Given the description of an element on the screen output the (x, y) to click on. 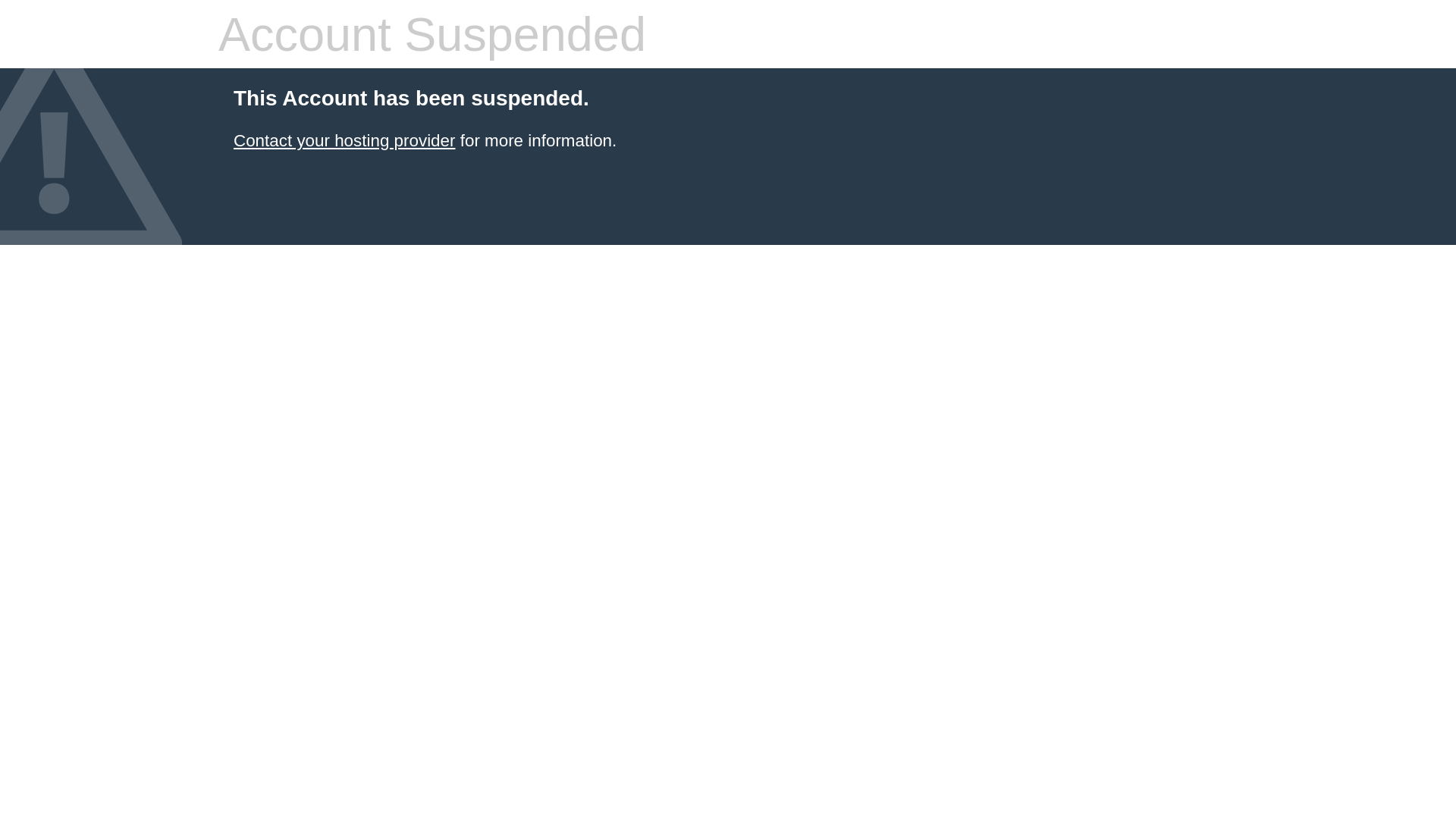
Contact your hosting provider Element type: text (344, 140)
